Given the description of an element on the screen output the (x, y) to click on. 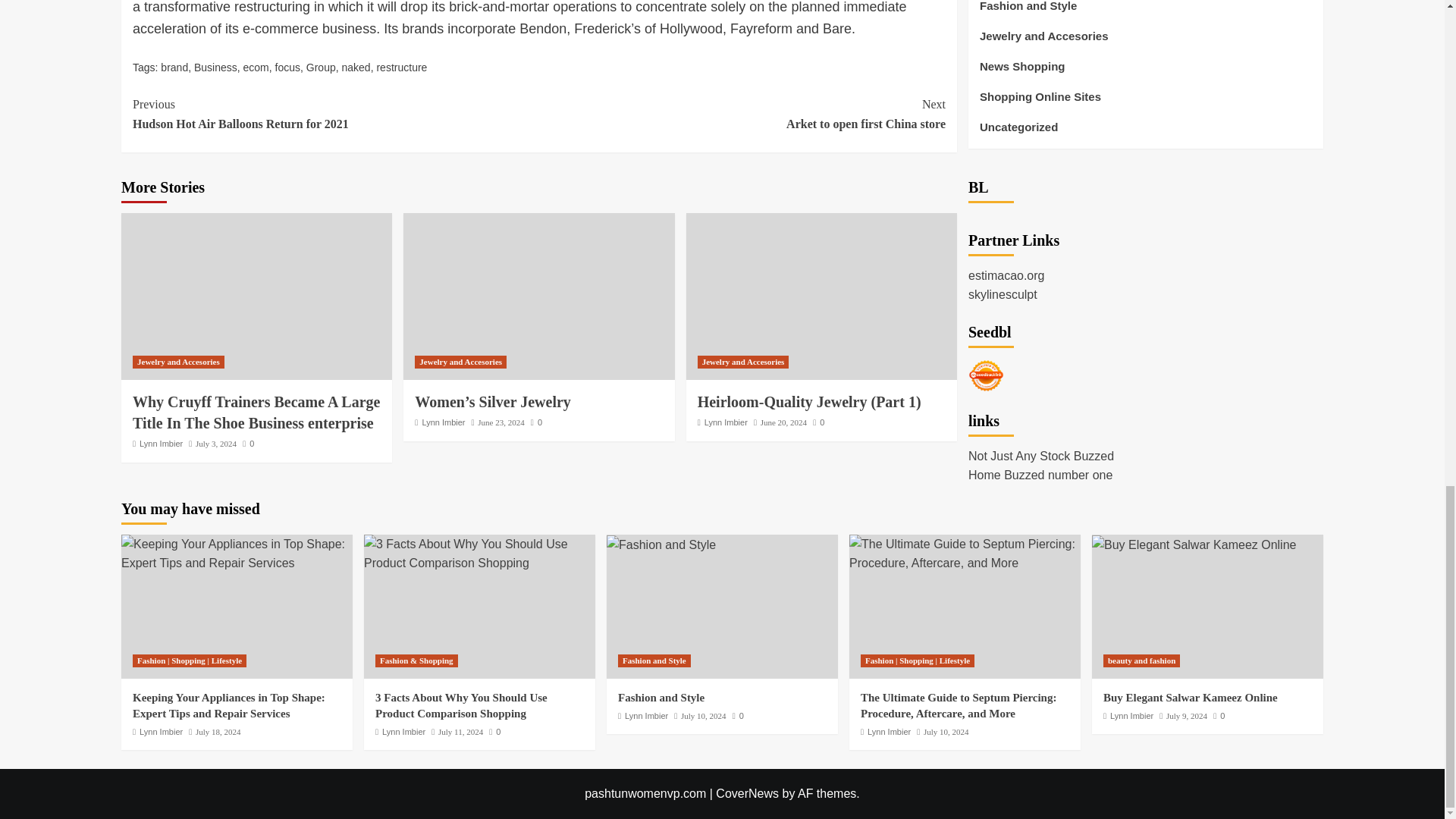
3 Facts About Why You Should Use Product Comparison Shopping (479, 553)
Group (320, 67)
Business (215, 67)
brand (173, 67)
Lynn Imbier (161, 442)
focus (287, 67)
Jewelry and Accesories (460, 361)
ecom (256, 67)
